Given the description of an element on the screen output the (x, y) to click on. 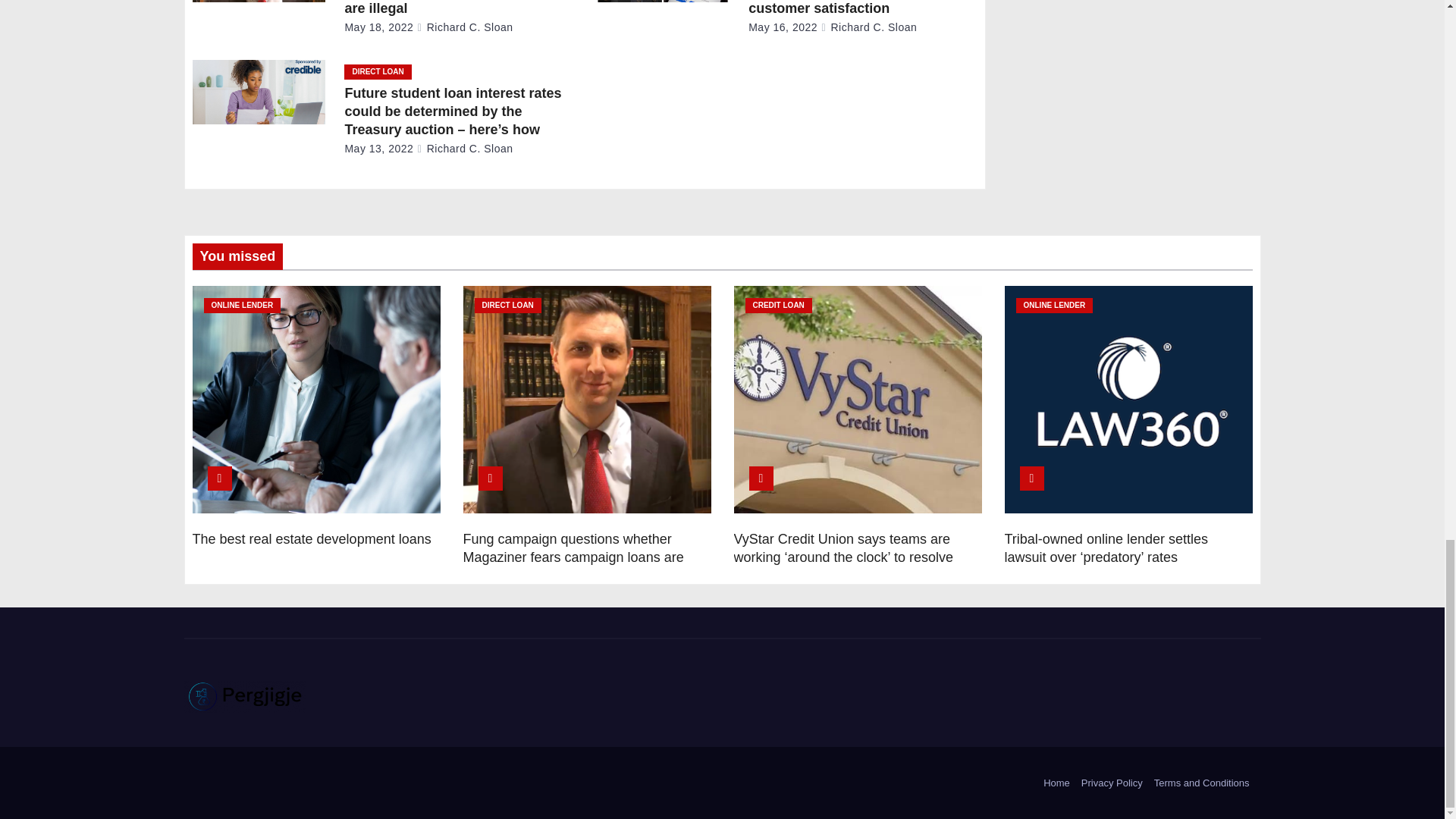
Permalink to: The best real estate development loans (311, 539)
